Given the description of an element on the screen output the (x, y) to click on. 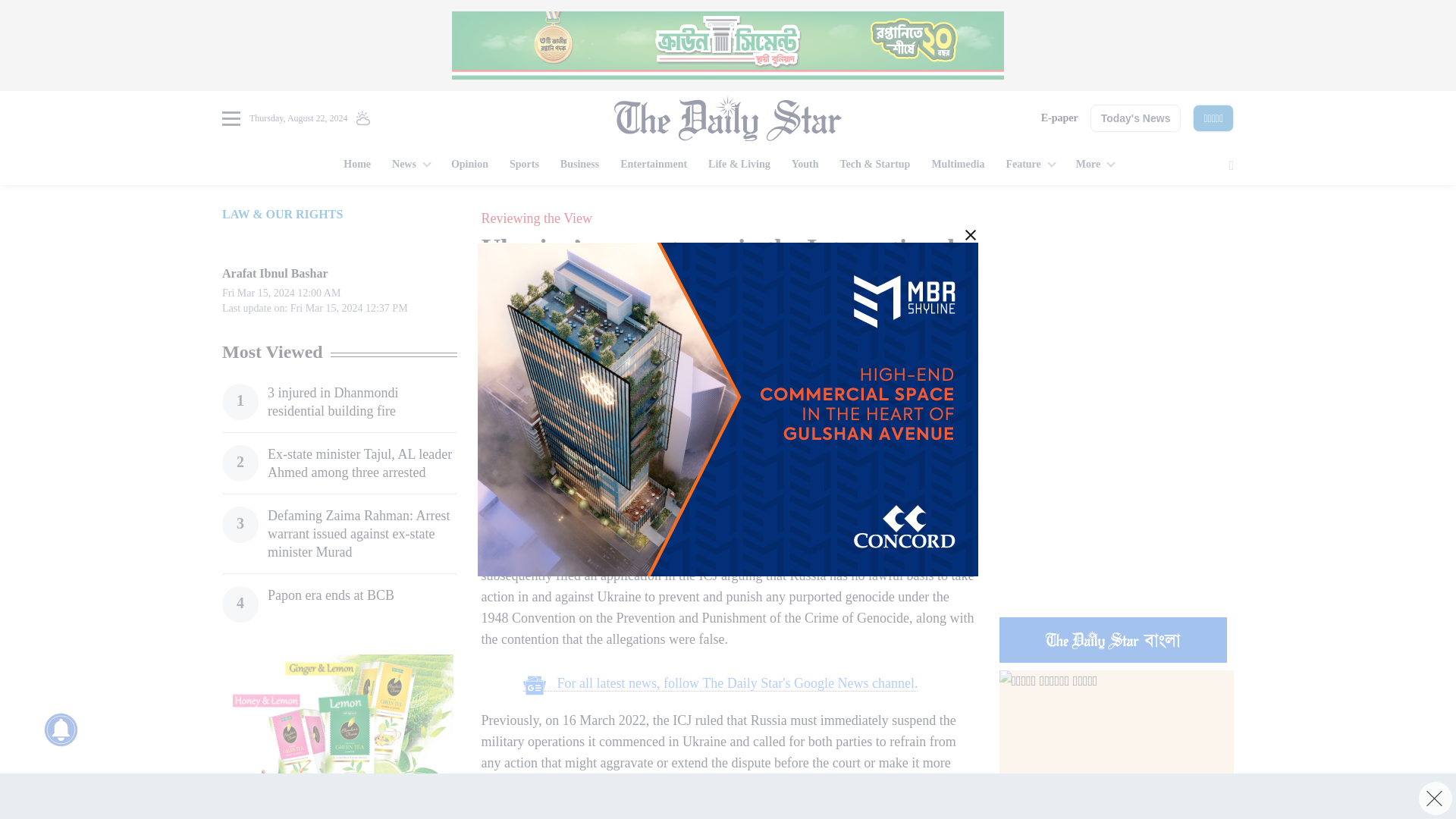
3rd party ad content (727, 796)
Business (579, 165)
Home (357, 165)
3rd party ad content (727, 45)
3rd party ad content (338, 736)
3rd party ad content (1116, 506)
Entertainment (653, 165)
Sports (524, 165)
Youth (805, 165)
